Given the description of an element on the screen output the (x, y) to click on. 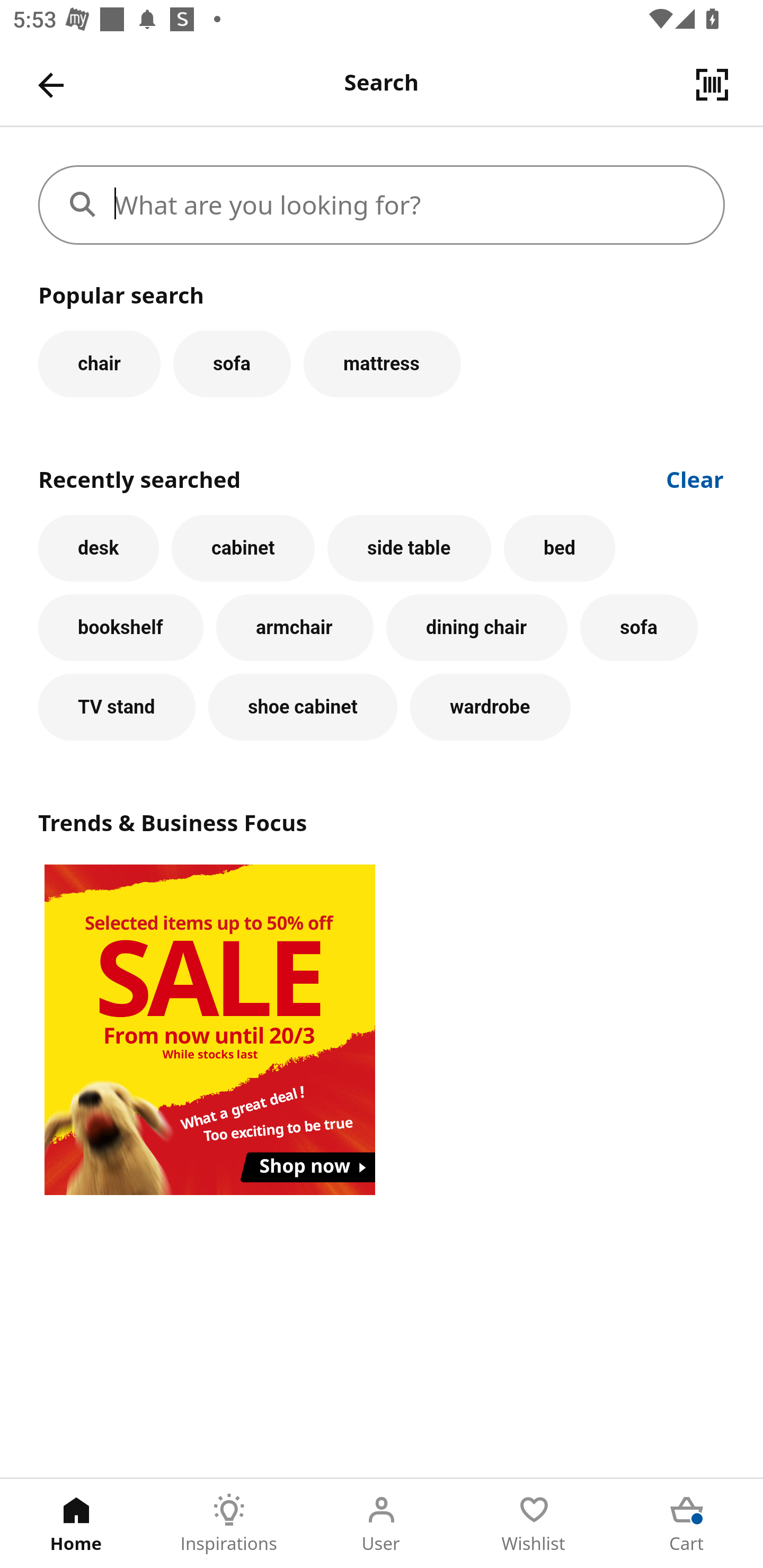
chair (99, 363)
sofa (231, 363)
mattress (381, 363)
Clear (695, 477)
desk (98, 547)
cabinet (242, 547)
side table (409, 547)
bed (558, 547)
bookshelf (120, 627)
armchair (294, 627)
dining chair (476, 627)
sofa (638, 627)
TV stand (116, 707)
shoe cabinet (302, 707)
wardrobe (490, 707)
Home
Tab 1 of 5 (76, 1522)
Inspirations
Tab 2 of 5 (228, 1522)
User
Tab 3 of 5 (381, 1522)
Wishlist
Tab 4 of 5 (533, 1522)
Cart
Tab 5 of 5 (686, 1522)
